Given the description of an element on the screen output the (x, y) to click on. 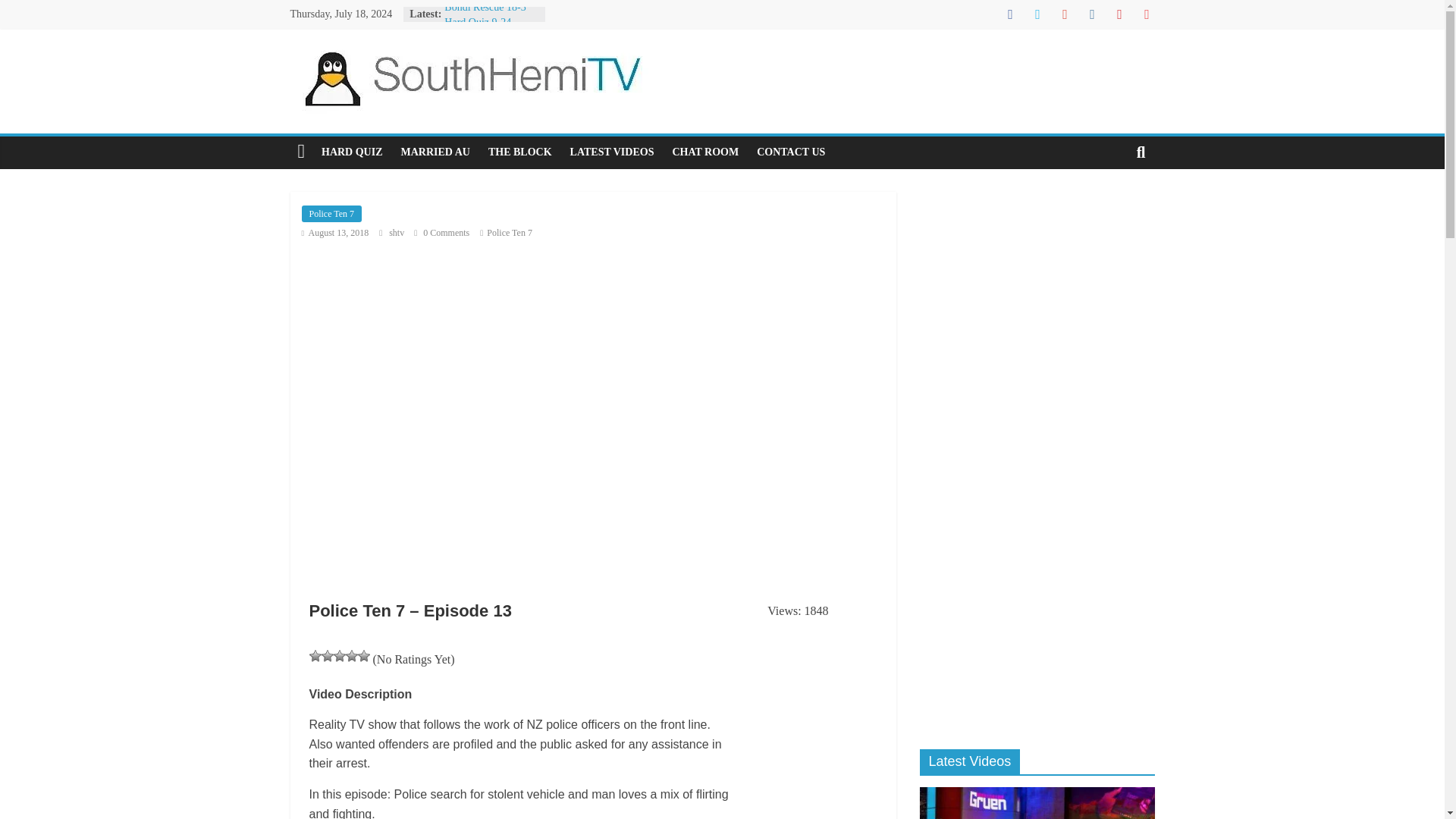
August 13, 2018 (335, 232)
Police Ten 7 (509, 232)
4 Stars (352, 655)
Bondi Rescue 18-3 (484, 7)
2 Stars (327, 655)
0 Comments (440, 232)
6:14 am (335, 232)
CHAT ROOM (705, 152)
Police Ten 7 (331, 213)
1 Star (314, 655)
Hard Quiz 9-24 (477, 21)
shtv (397, 232)
Bondi Rescue 18-3 (484, 7)
3 Stars (339, 655)
MARRIED AU (435, 152)
